Given the description of an element on the screen output the (x, y) to click on. 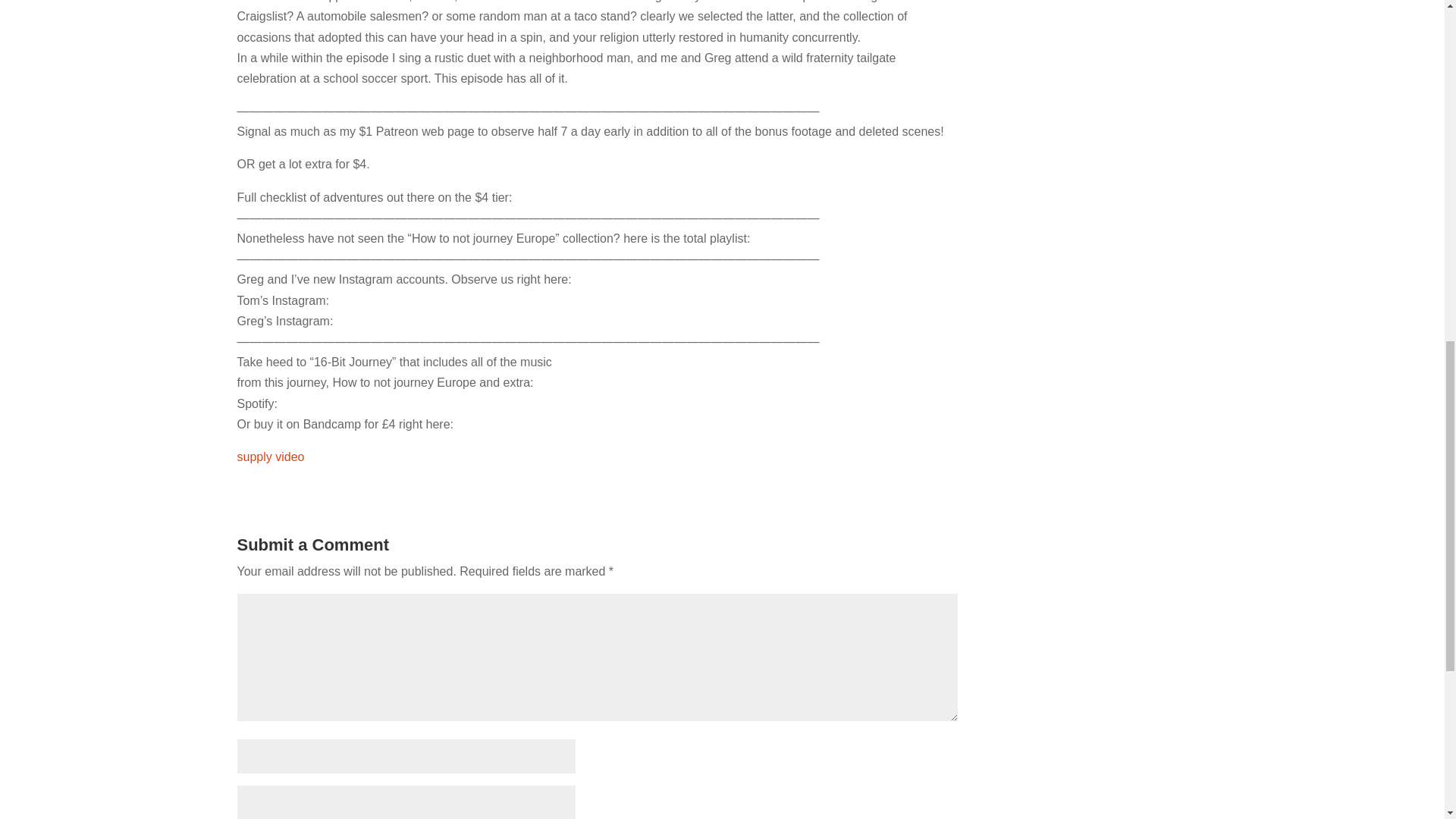
supply video (269, 456)
